Given the description of an element on the screen output the (x, y) to click on. 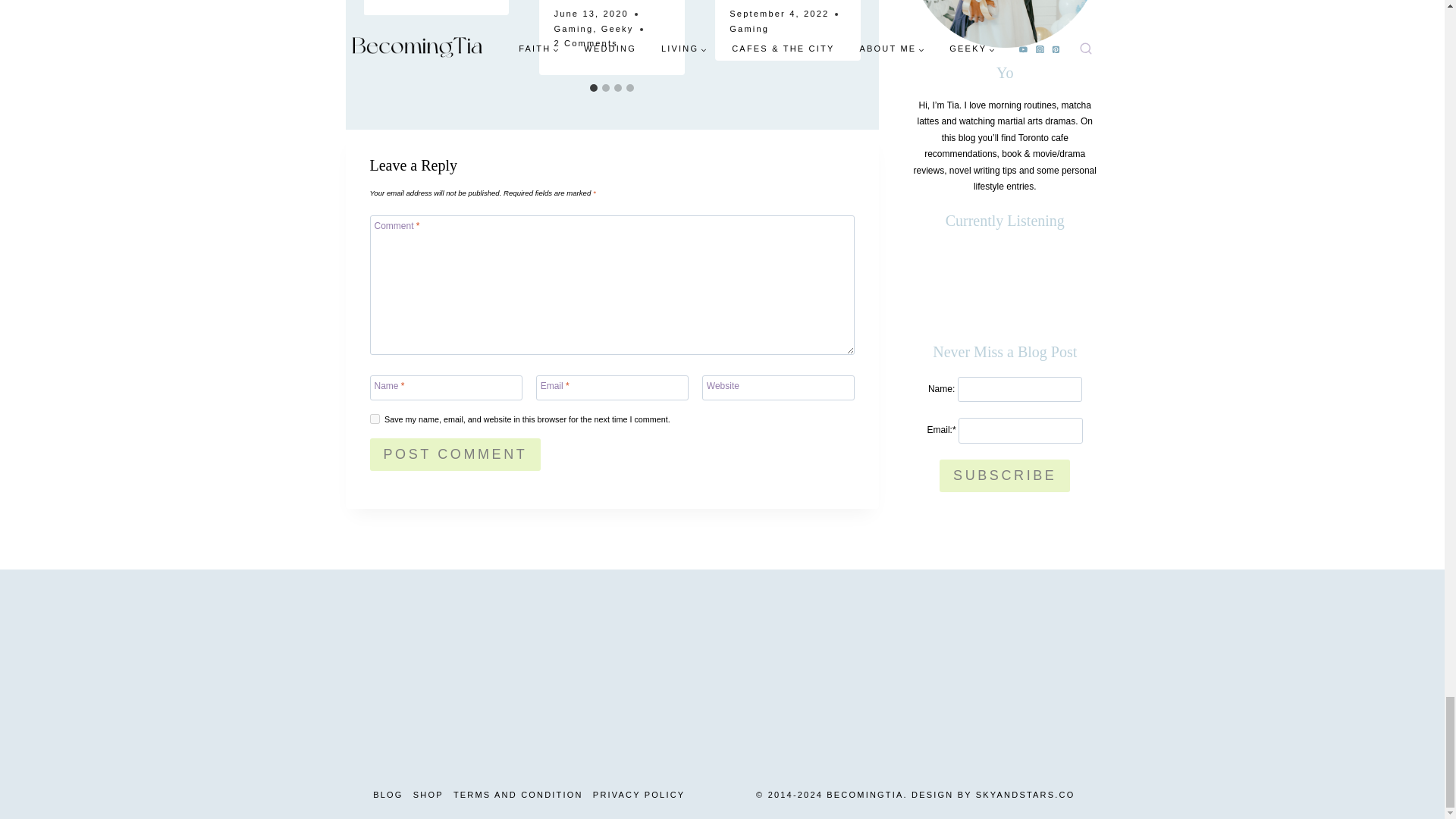
Post Comment (455, 454)
2 Comments (585, 43)
yes (374, 419)
V L O G S (149, 670)
